Given the description of an element on the screen output the (x, y) to click on. 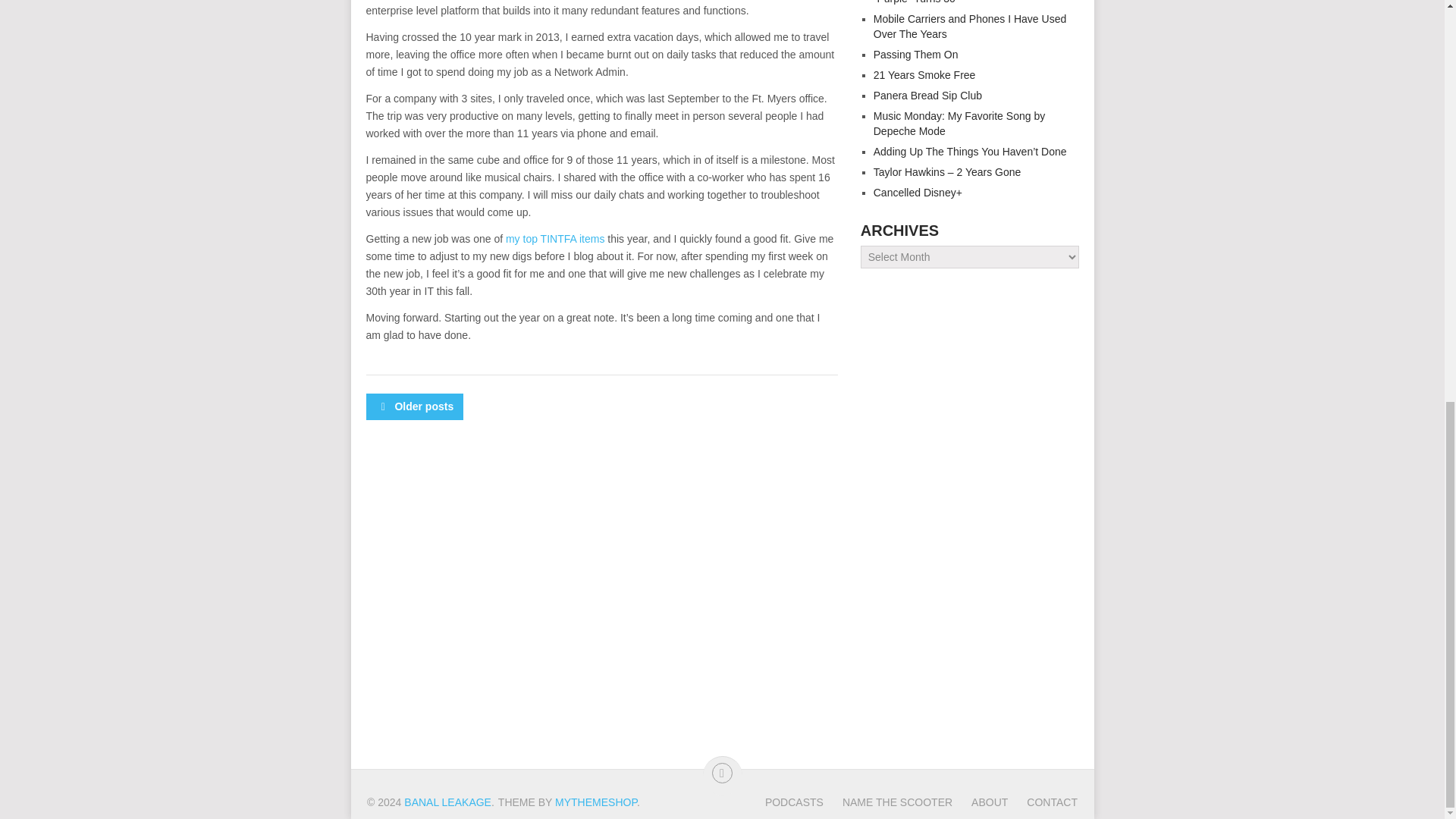
my top TINTFA items (554, 238)
CONTACT (1042, 802)
NAME THE SCOOTER (888, 802)
PODCASTS (794, 802)
ABOUT (979, 802)
Mobile Carriers and Phones I Have Used Over The Years (969, 26)
Random Bits of Whatever (448, 802)
Passing Them On (915, 54)
Older posts (414, 406)
21 Years Smoke Free (924, 74)
